Given the description of an element on the screen output the (x, y) to click on. 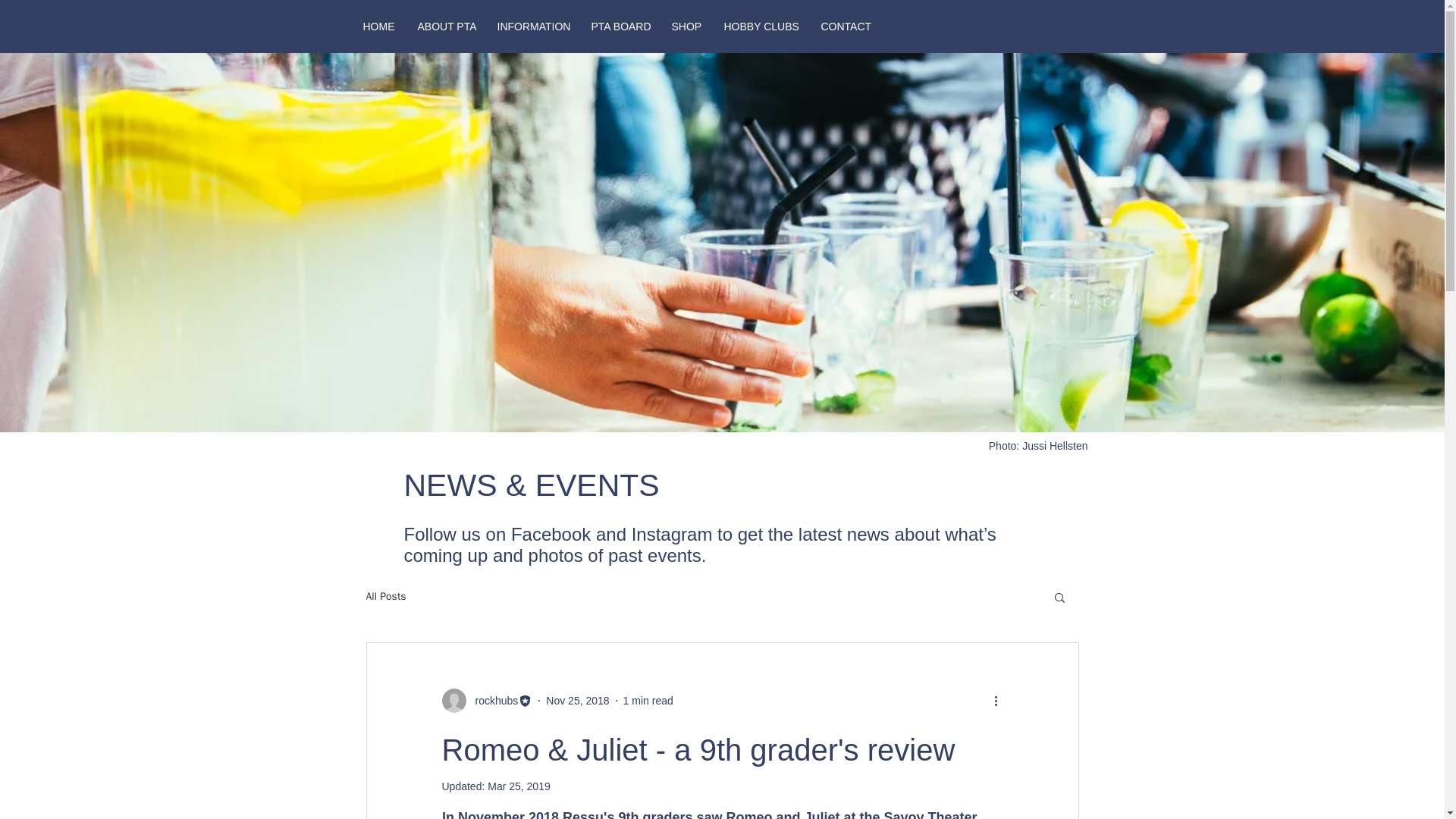
SHOP (685, 26)
Nov 25, 2018 (577, 700)
HOBBY CLUBS (761, 26)
All Posts (385, 596)
1 min read (647, 700)
rockhubs (491, 700)
HOME (379, 26)
Mar 25, 2019 (518, 786)
INFORMATION (531, 26)
ABOUT PTA (446, 26)
